Given the description of an element on the screen output the (x, y) to click on. 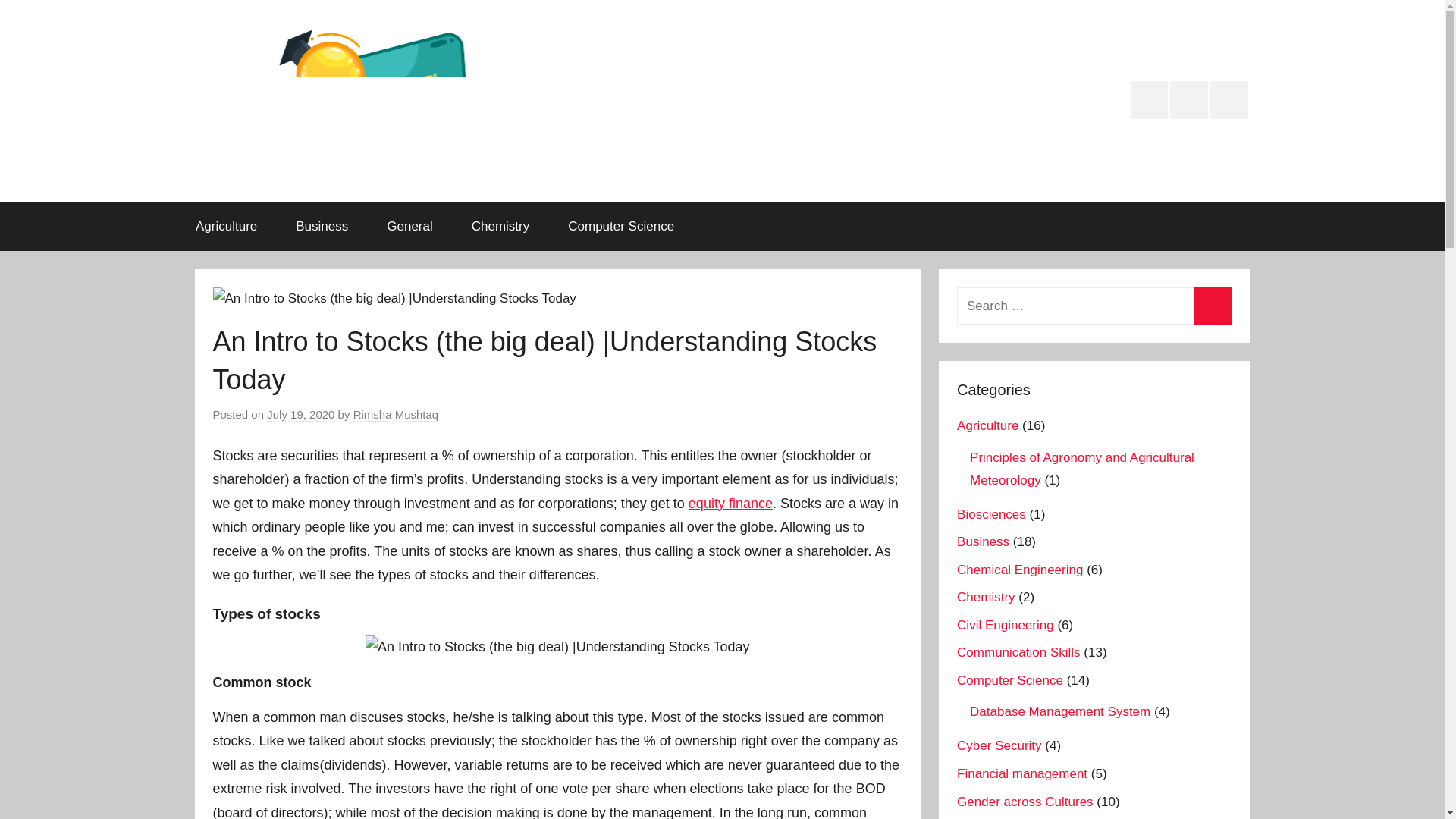
Instagram (1150, 99)
General (409, 226)
Agriculture (226, 226)
Business (982, 541)
Chemistry (985, 596)
Biosciences (991, 513)
Computer Science (621, 226)
Chemistry (499, 226)
Rimsha Mushtaq (396, 414)
July 19, 2020 (300, 414)
Principles of Agronomy and Agricultural Meteorology (1081, 468)
Chemical Engineering (1019, 569)
View all posts by Rimsha Mushtaq (396, 414)
Business (322, 226)
youtube (1228, 99)
